Given the description of an element on the screen output the (x, y) to click on. 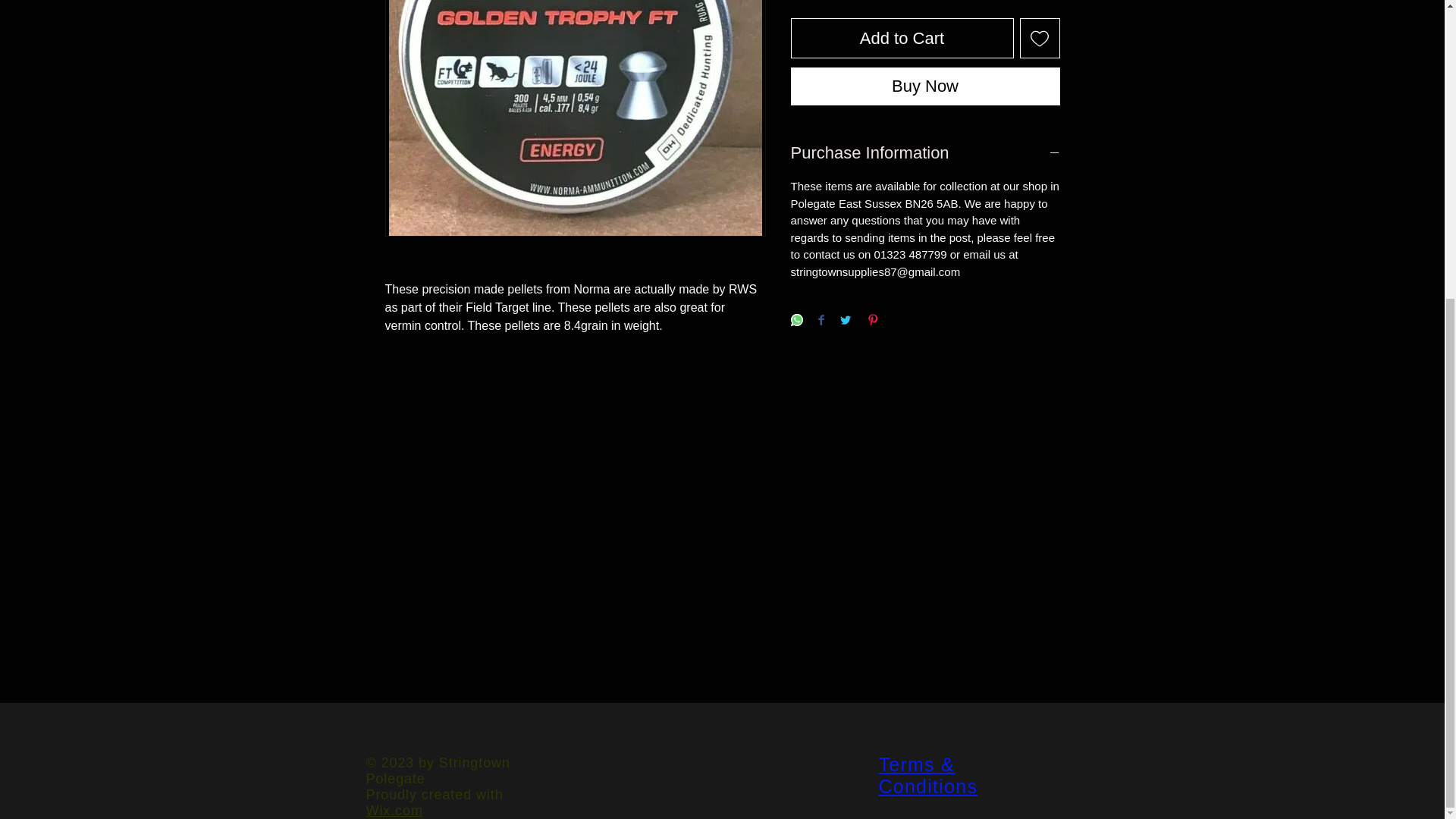
Add to Cart (901, 38)
Buy Now (924, 86)
Purchase Information (924, 153)
